Given the description of an element on the screen output the (x, y) to click on. 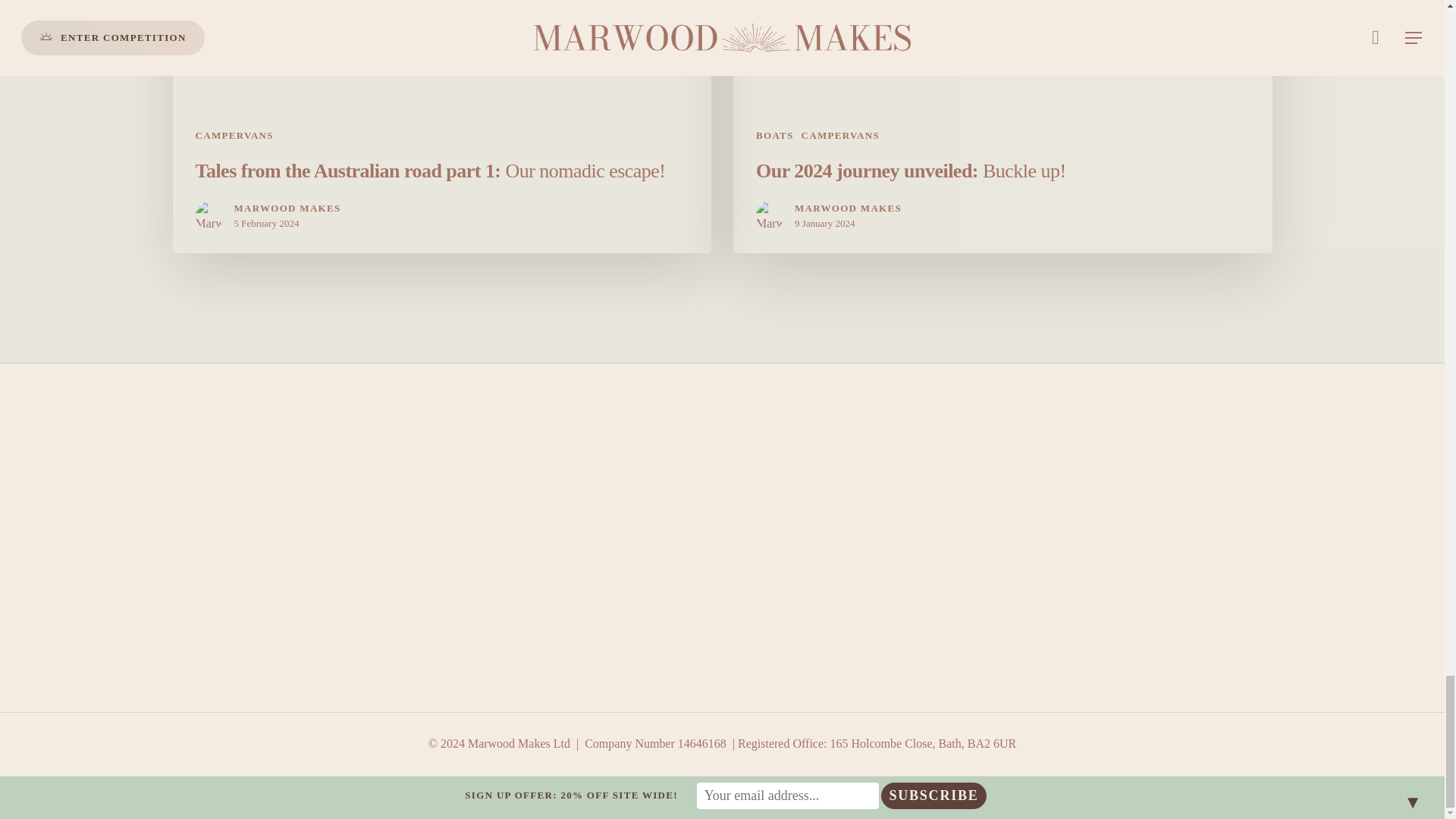
CAMPERVANS (234, 135)
MARWOOD MAKES (286, 208)
MARWOOD MAKES (847, 208)
BOATS (774, 135)
CAMPERVANS (840, 135)
